Given the description of an element on the screen output the (x, y) to click on. 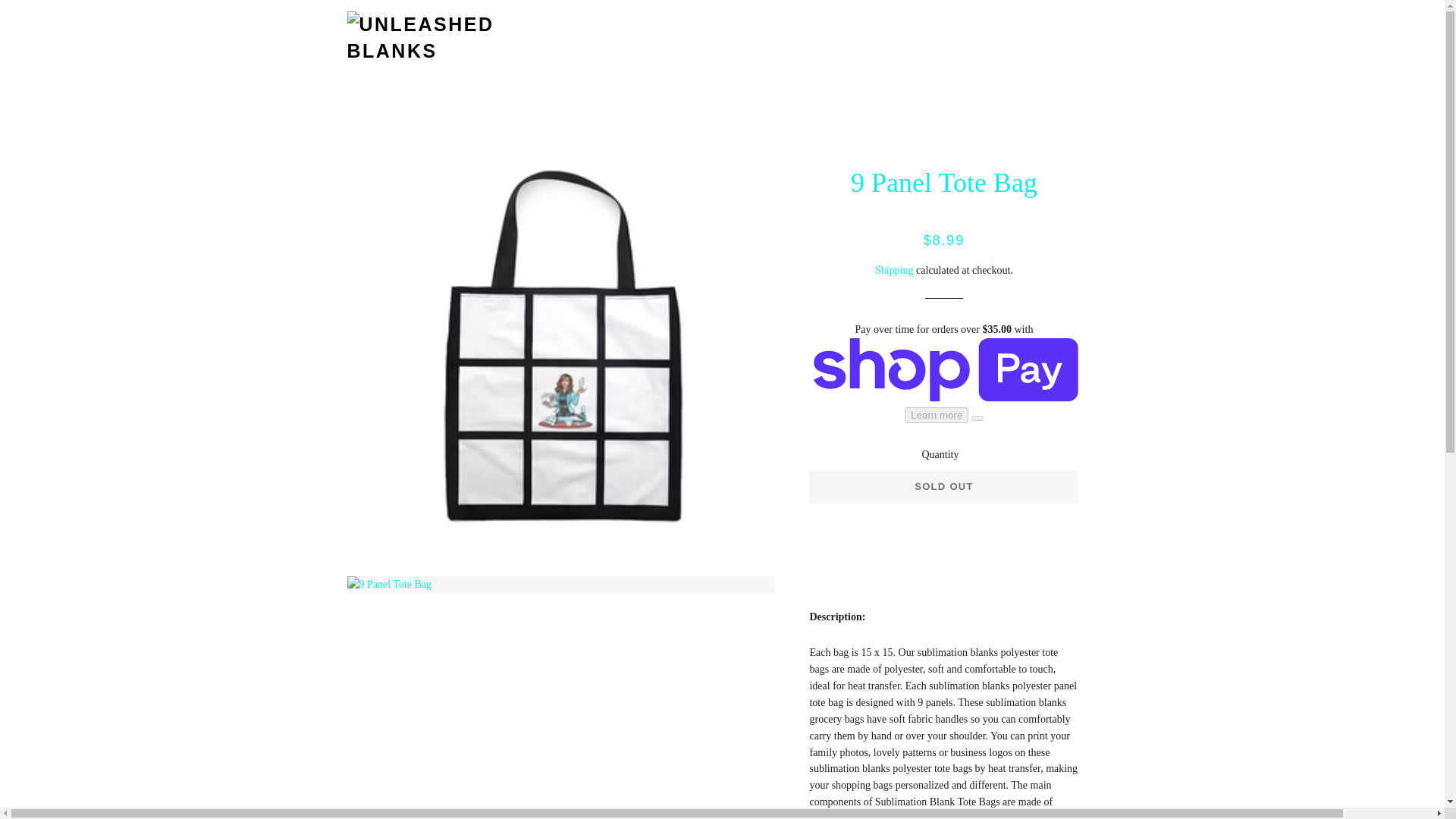
Shipping (894, 270)
SOLD OUT (943, 486)
